Given the description of an element on the screen output the (x, y) to click on. 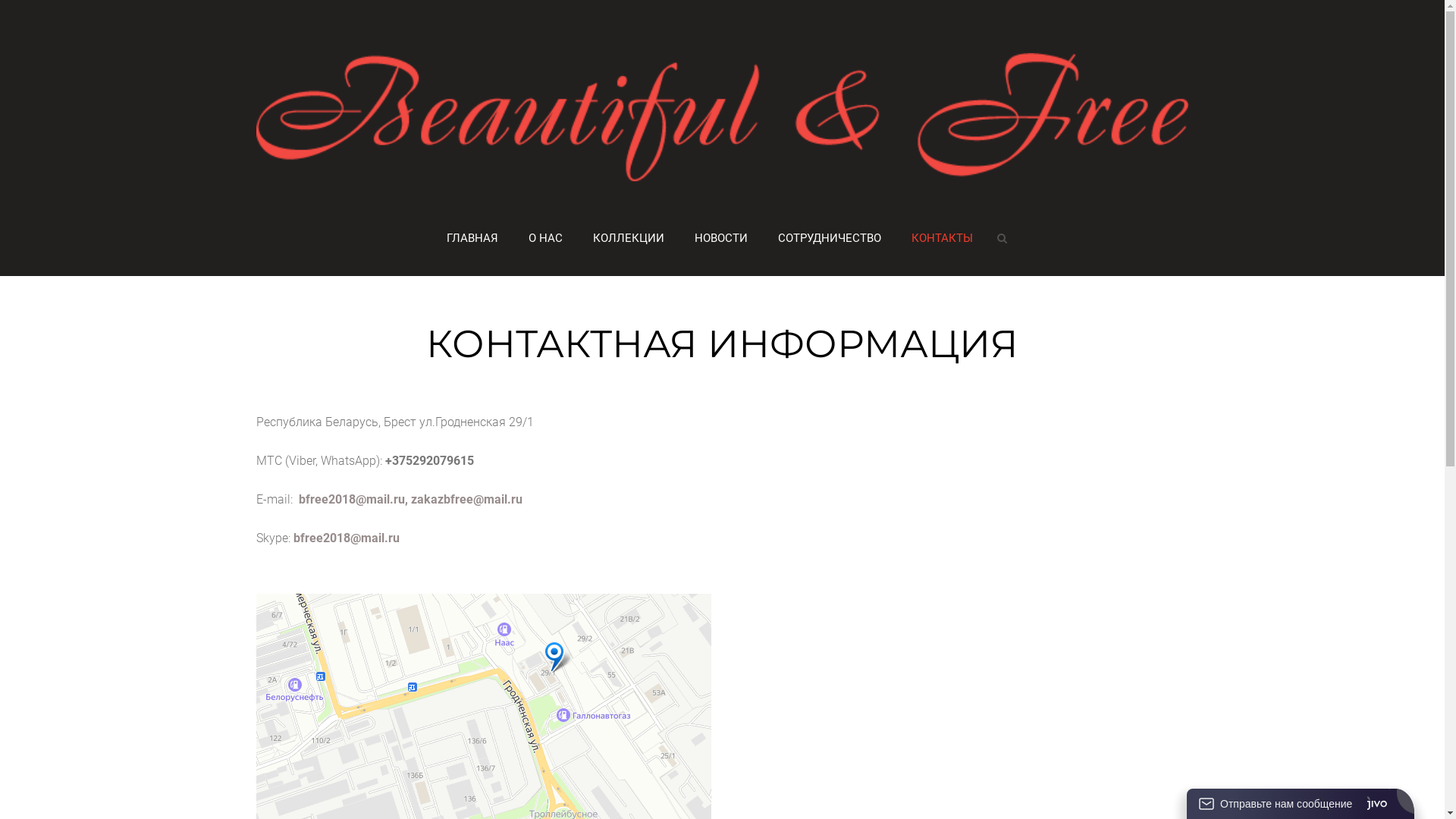
zakazbfree@mail.ru Element type: text (466, 499)
bfree2018@mail.ru Element type: text (345, 537)
bfree2018@mail.ru Element type: text (351, 499)
bfree2018@mail.ru, Element type: text (352, 499)
